Given the description of an element on the screen output the (x, y) to click on. 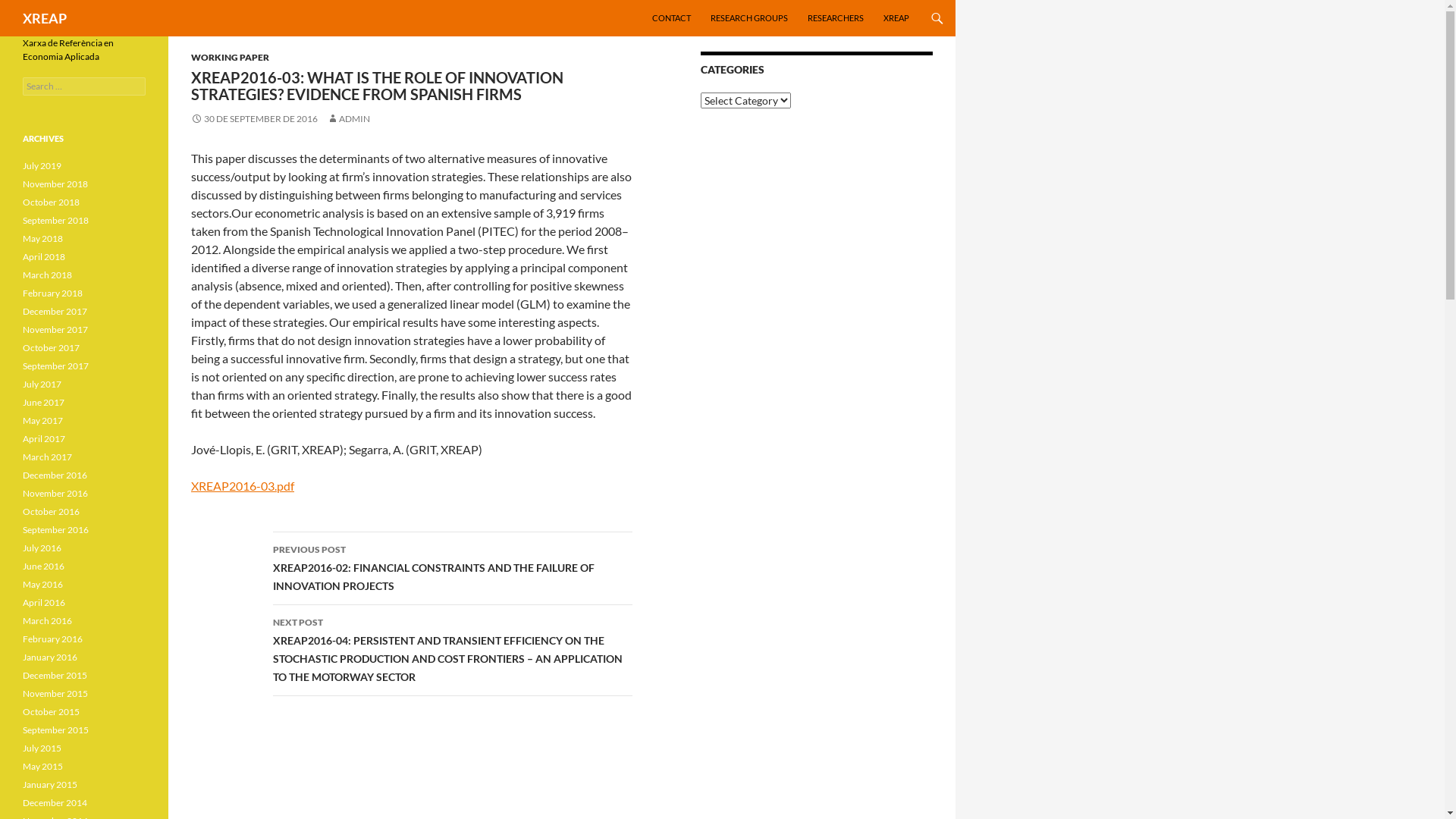
Search Element type: text (29, 9)
March 2016 Element type: text (47, 620)
February 2018 Element type: text (52, 292)
January 2015 Element type: text (49, 784)
September 2018 Element type: text (55, 219)
May 2018 Element type: text (42, 238)
XREAP Element type: text (44, 18)
September 2017 Element type: text (55, 365)
RESEARCHERS Element type: text (835, 18)
April 2018 Element type: text (43, 256)
December 2017 Element type: text (54, 310)
October 2018 Element type: text (50, 201)
WORKING PAPER Element type: text (230, 56)
XREAP2016-03.pdf Element type: text (242, 485)
November 2017 Element type: text (54, 329)
CONTACT Element type: text (671, 18)
ADMIN Element type: text (348, 118)
May 2015 Element type: text (42, 765)
May 2016 Element type: text (42, 583)
April 2016 Element type: text (43, 602)
October 2016 Element type: text (50, 511)
XREAP Element type: text (896, 18)
March 2018 Element type: text (47, 274)
May 2017 Element type: text (42, 420)
December 2016 Element type: text (54, 474)
October 2015 Element type: text (50, 711)
December 2015 Element type: text (54, 674)
Search Element type: text (3, 0)
October 2017 Element type: text (50, 347)
November 2016 Element type: text (54, 492)
SKIP TO CONTENT Element type: text (652, 0)
December 2014 Element type: text (54, 802)
RESEARCH GROUPS Element type: text (749, 18)
July 2015 Element type: text (41, 747)
January 2016 Element type: text (49, 656)
February 2016 Element type: text (52, 638)
September 2016 Element type: text (55, 529)
July 2016 Element type: text (41, 547)
November 2018 Element type: text (54, 183)
November 2015 Element type: text (54, 693)
June 2016 Element type: text (43, 565)
April 2017 Element type: text (43, 438)
June 2017 Element type: text (43, 401)
March 2017 Element type: text (47, 456)
30 DE SEPTEMBER DE 2016 Element type: text (254, 118)
September 2015 Element type: text (55, 729)
July 2017 Element type: text (41, 383)
July 2019 Element type: text (41, 165)
